Given the description of an element on the screen output the (x, y) to click on. 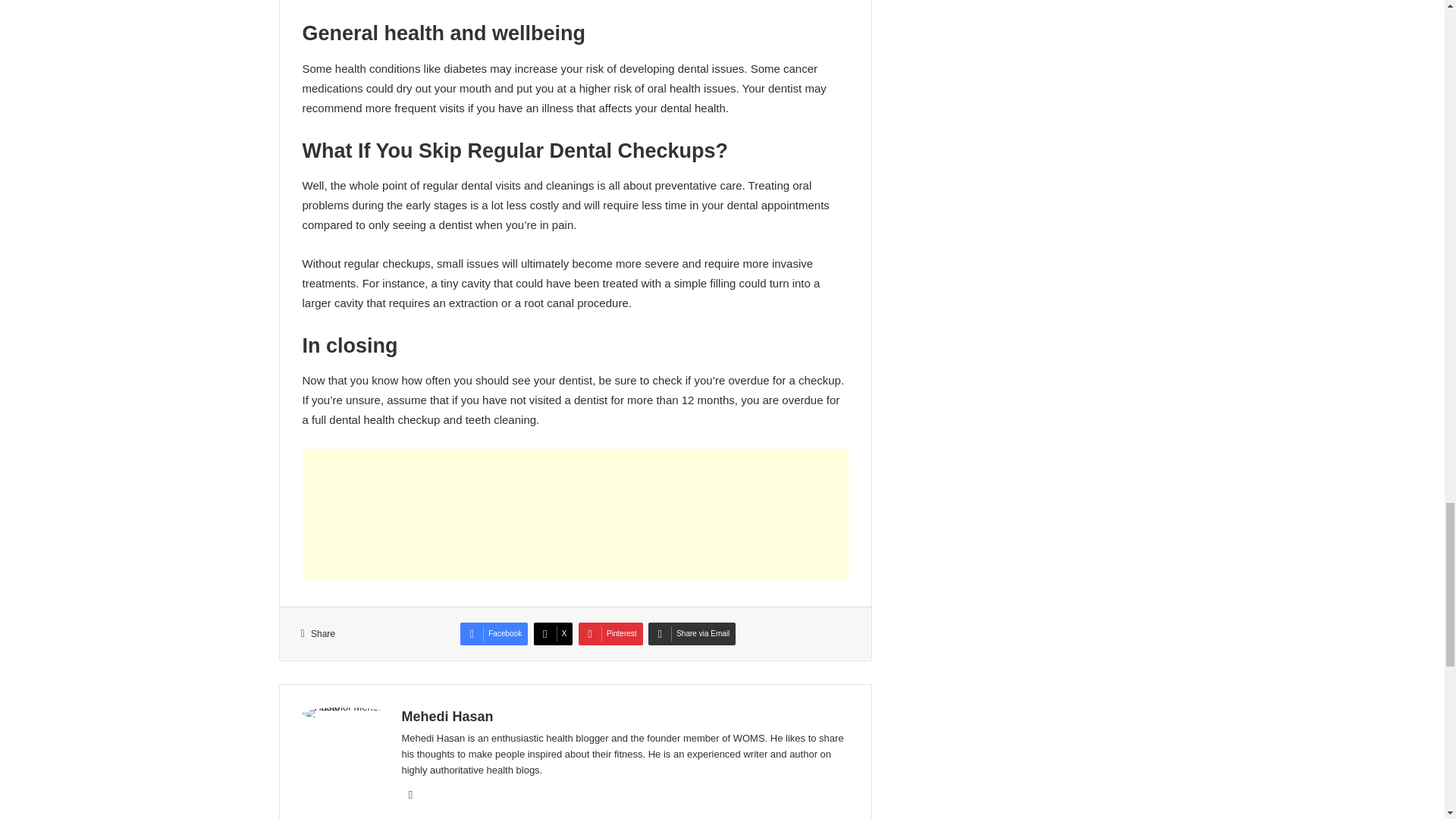
Share via Email (691, 633)
X (553, 633)
Advertisement (574, 513)
Facebook (493, 633)
Pinterest (610, 633)
